Given the description of an element on the screen output the (x, y) to click on. 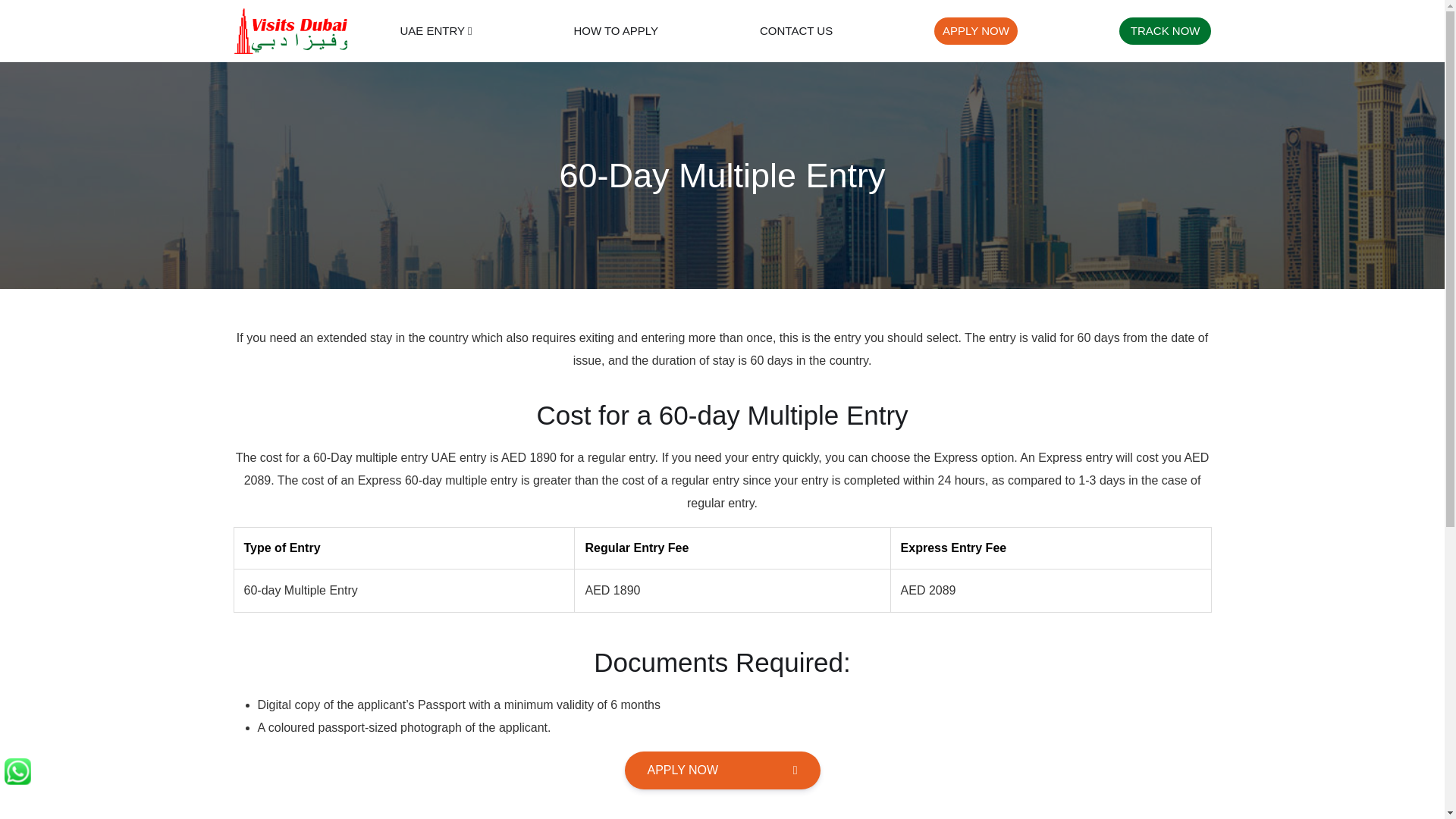
HOW TO APPLY (615, 31)
APPLY NOW (722, 770)
APPLY NOW (975, 31)
UAE ENTRY (435, 31)
TRACK NOW (1165, 31)
UAE Visas (435, 31)
CONTACT US (796, 31)
